Given the description of an element on the screen output the (x, y) to click on. 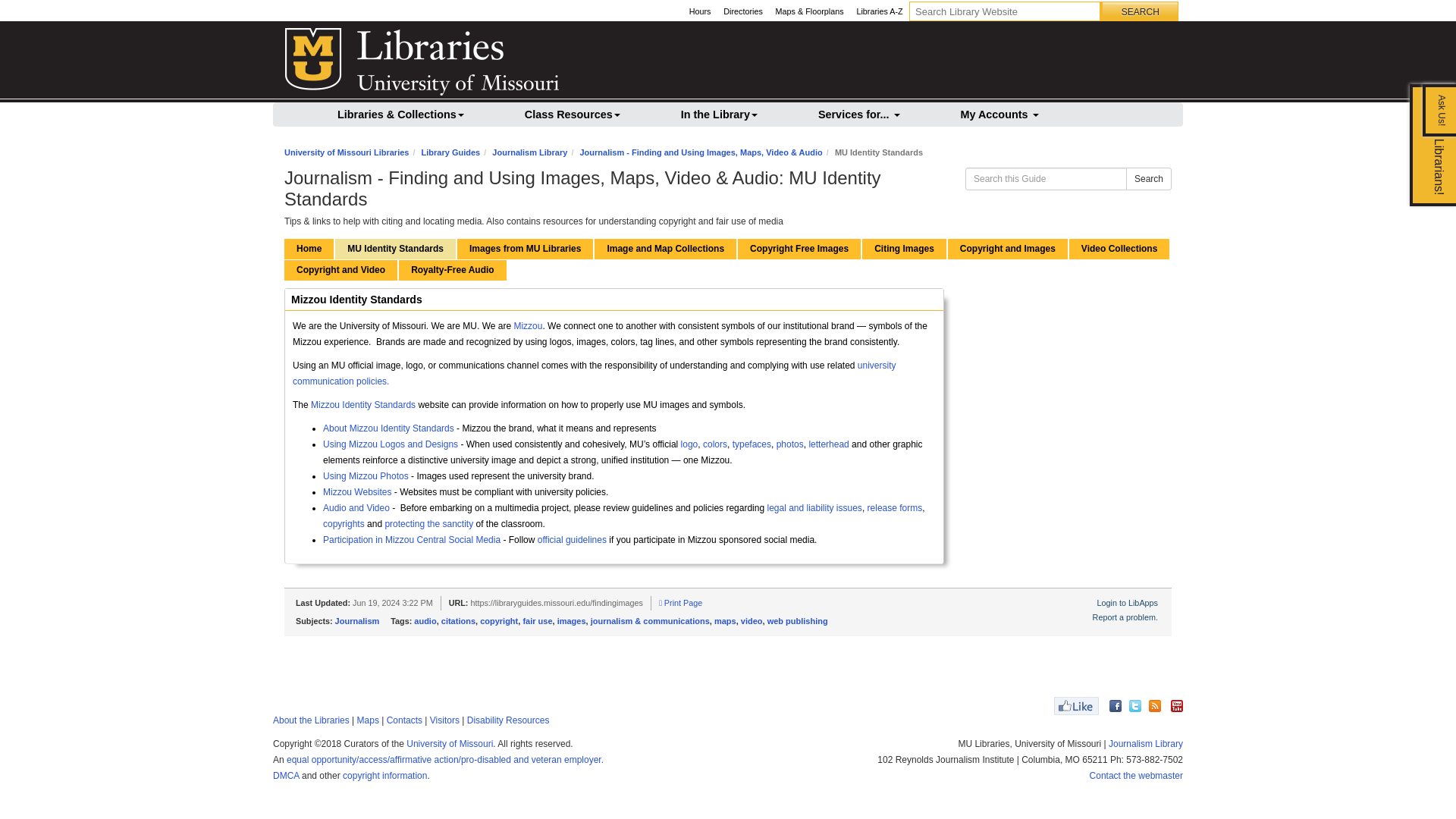
Directories (743, 11)
Search Site (1139, 11)
Hours (699, 11)
Search Site (1004, 11)
Search (1139, 11)
Search (1139, 11)
Search (1139, 11)
Class Resources (572, 112)
Libraries A-Z (879, 11)
In the Library (718, 112)
